Given the description of an element on the screen output the (x, y) to click on. 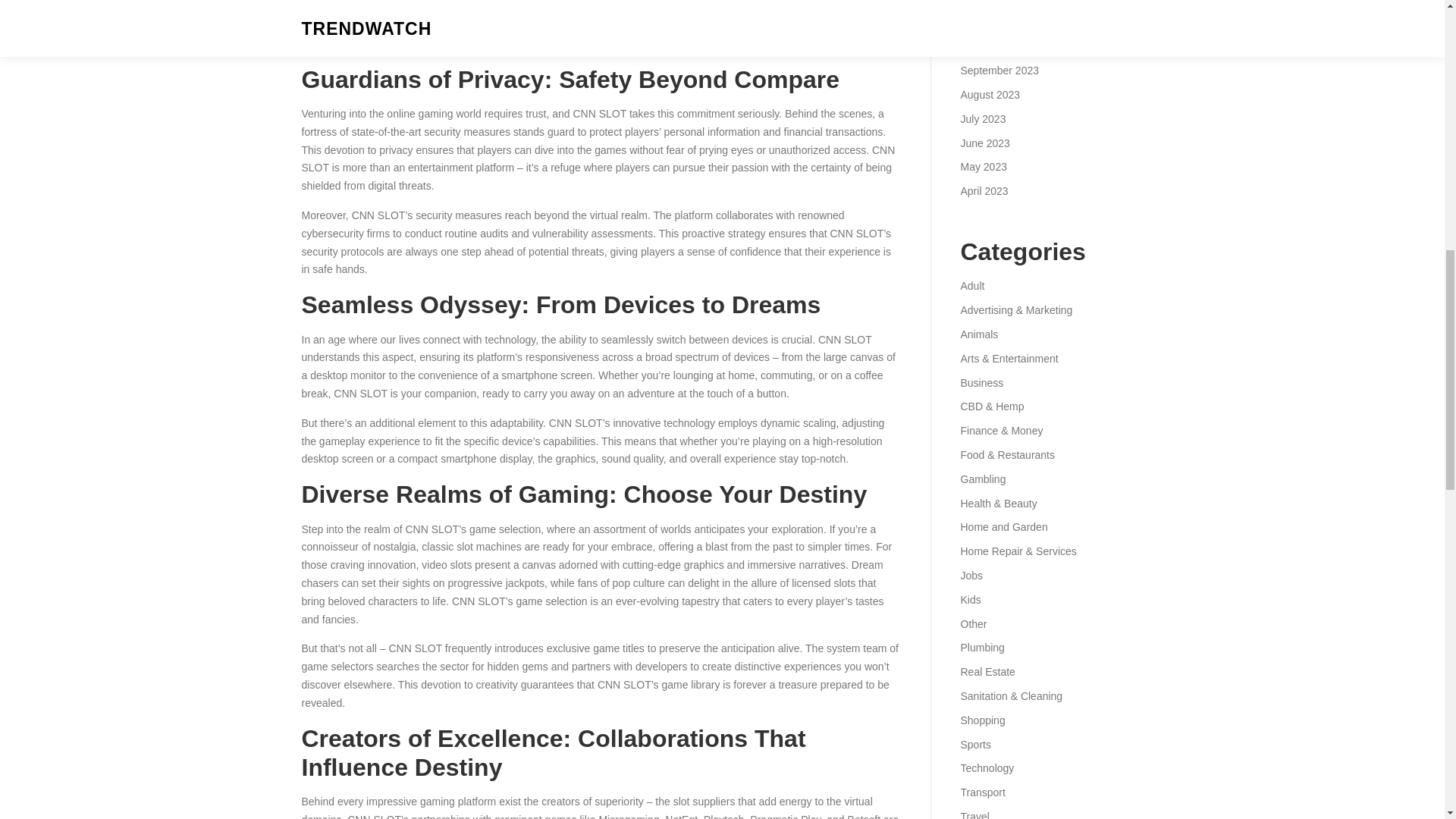
June 2023 (984, 143)
July 2023 (982, 119)
May 2023 (982, 166)
Adult (971, 285)
September 2023 (999, 70)
December 2023 (997, 2)
April 2023 (983, 191)
October 2023 (992, 46)
August 2023 (989, 94)
Animals (978, 334)
